Given the description of an element on the screen output the (x, y) to click on. 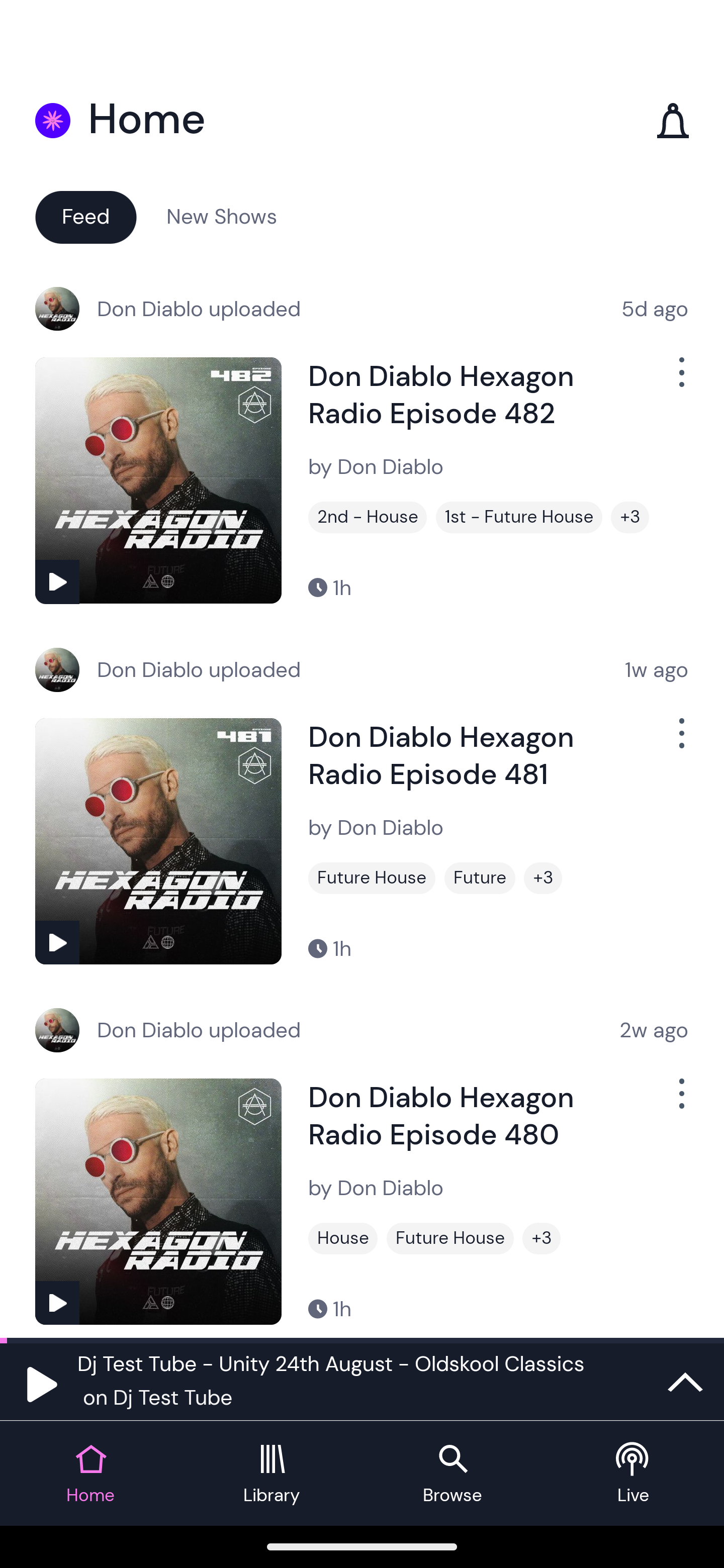
Feed (85, 216)
New Shows (221, 216)
Show Options Menu Button (679, 379)
2nd - House (367, 517)
1st - Future House (518, 517)
Show Options Menu Button (679, 740)
Future House (371, 877)
Future (479, 877)
Show Options Menu Button (679, 1101)
House (342, 1238)
Future House (450, 1238)
Home tab Home (90, 1473)
Library tab Library (271, 1473)
Browse tab Browse (452, 1473)
Live tab Live (633, 1473)
